Given the description of an element on the screen output the (x, y) to click on. 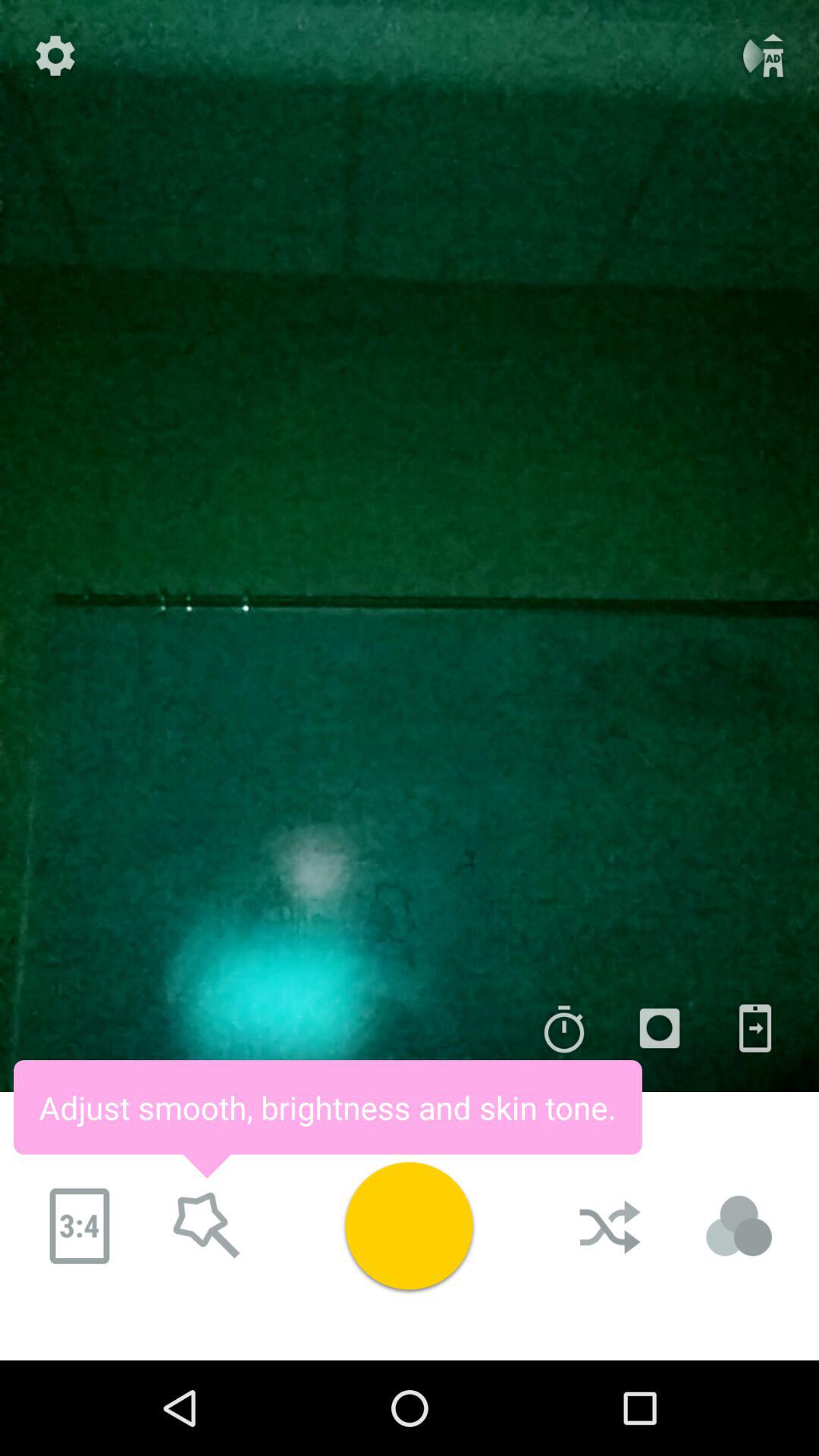
go to setting (55, 55)
